Given the description of an element on the screen output the (x, y) to click on. 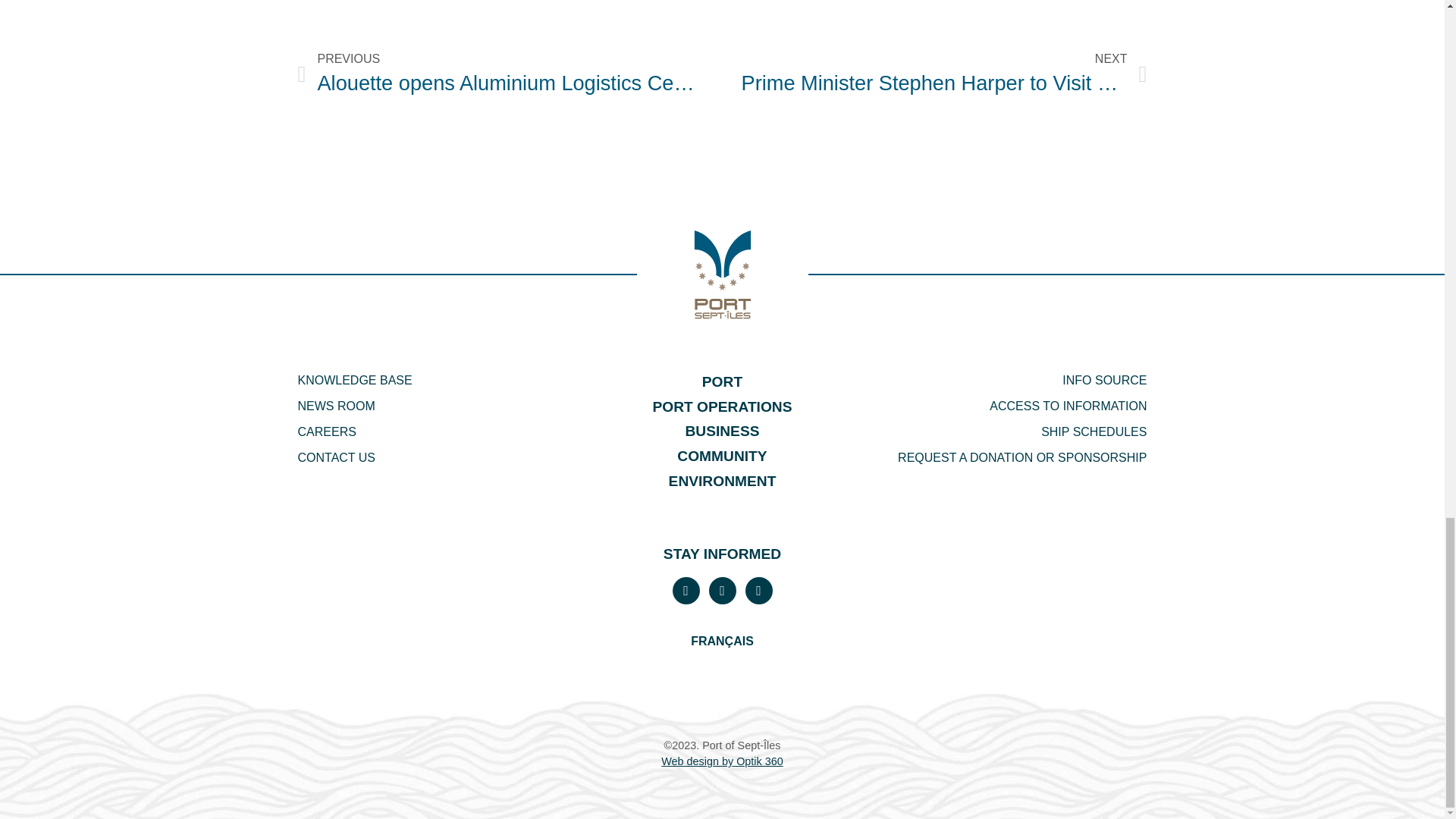
SHIP SCHEDULES (1010, 432)
CAREERS (433, 432)
PORT OPERATIONS (722, 407)
ENVIRONMENT (722, 481)
PORT (722, 382)
NEWS ROOM (433, 406)
KNOWLEDGE BASE (433, 381)
CONTACT US (944, 74)
BUSINESS (433, 458)
ACCESS TO INFORMATION (722, 431)
COMMUNITY (1010, 406)
INFO SOURCE (722, 456)
REQUEST A DONATION OR SPONSORSHIP (1010, 381)
